Given the description of an element on the screen output the (x, y) to click on. 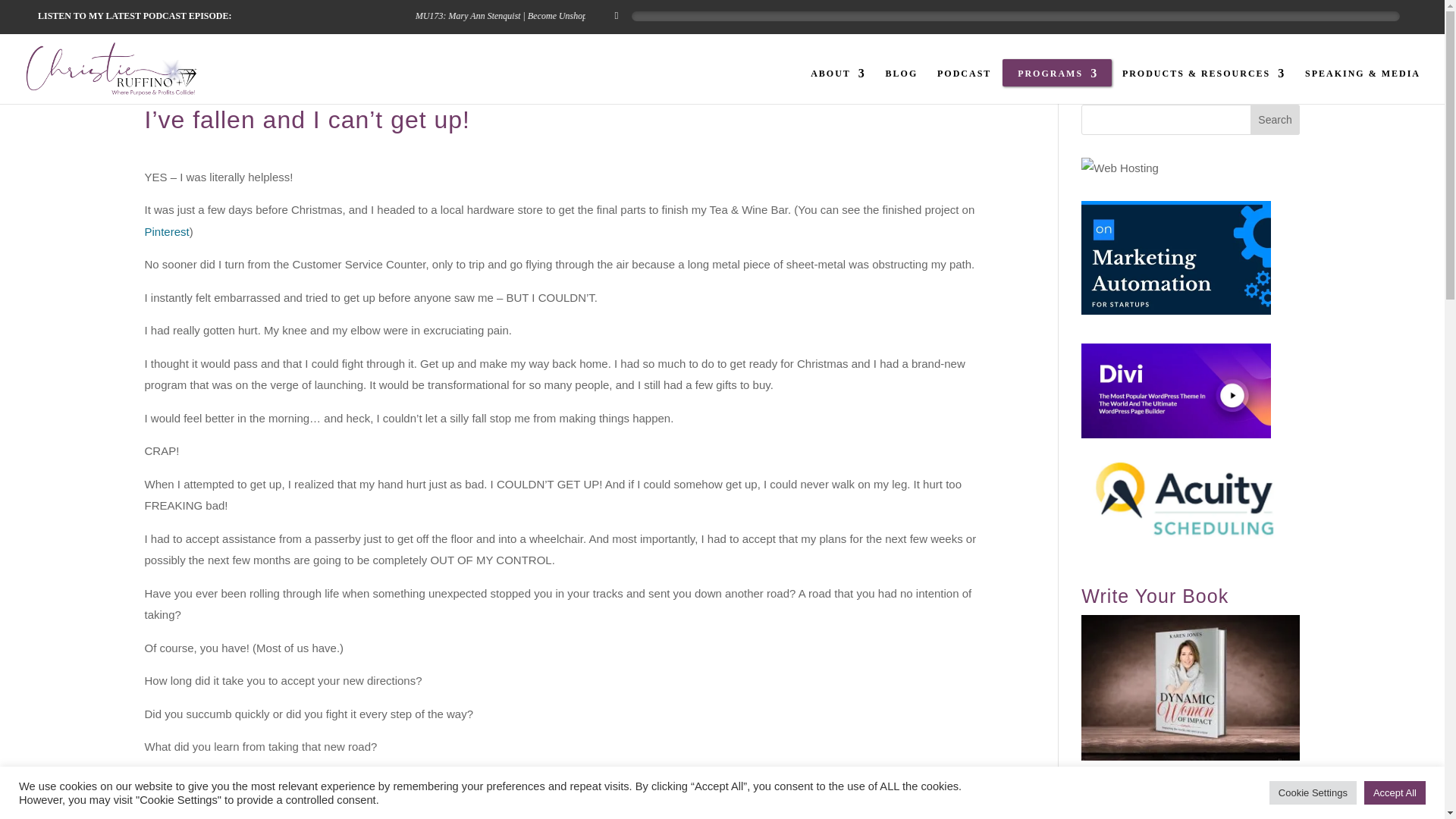
PROGRAMS (1057, 85)
PODCAST (964, 85)
ABOUT (838, 85)
Play (616, 15)
BLOG (901, 85)
Search (1275, 119)
